Given the description of an element on the screen output the (x, y) to click on. 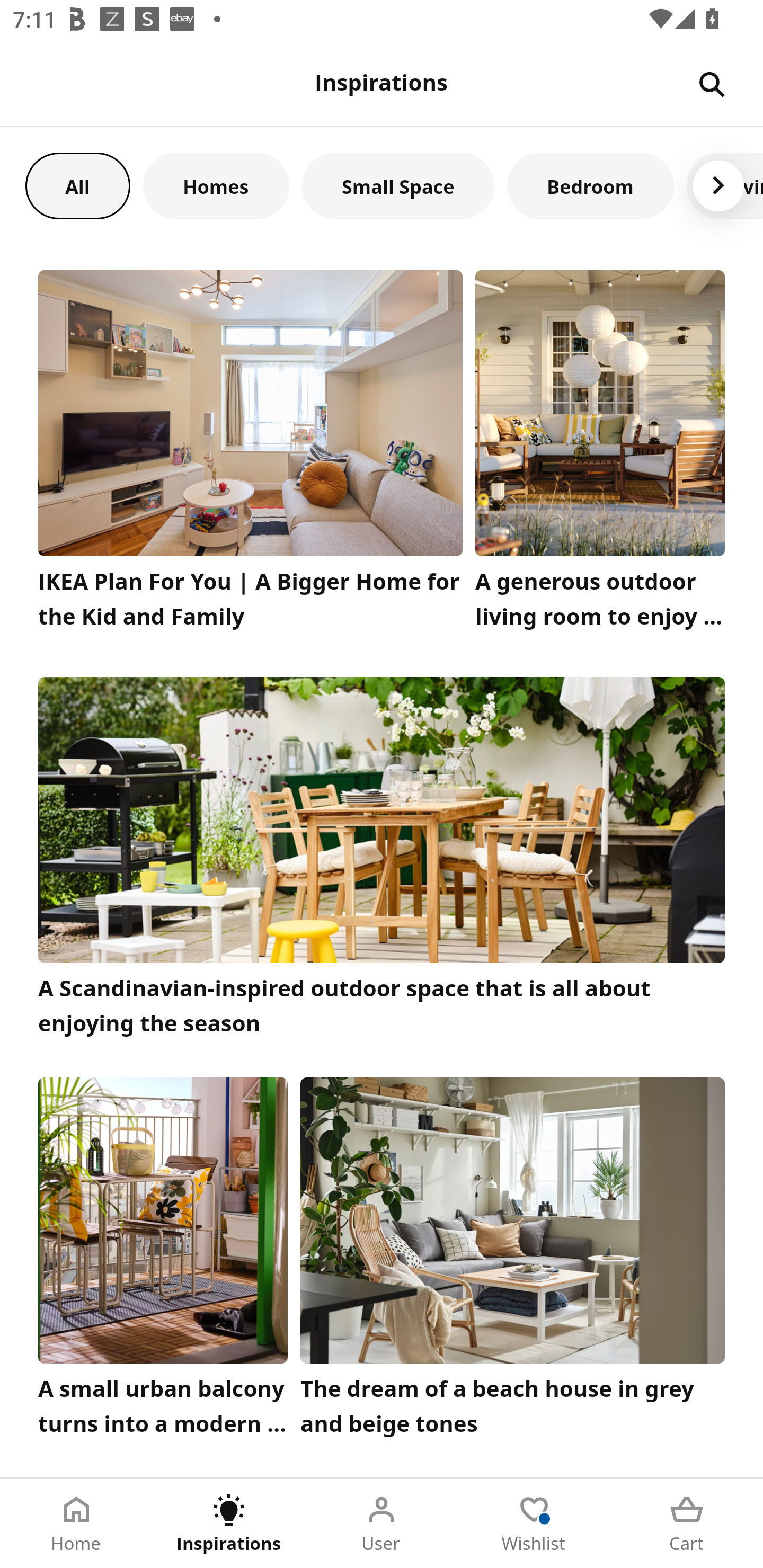
All (77, 185)
Homes (216, 185)
Small Space (398, 185)
Bedroom (590, 185)
The dream of a beach house in grey and beige tones (512, 1261)
Home
Tab 1 of 5 (76, 1522)
Inspirations
Tab 2 of 5 (228, 1522)
User
Tab 3 of 5 (381, 1522)
Wishlist
Tab 4 of 5 (533, 1522)
Cart
Tab 5 of 5 (686, 1522)
